Given the description of an element on the screen output the (x, y) to click on. 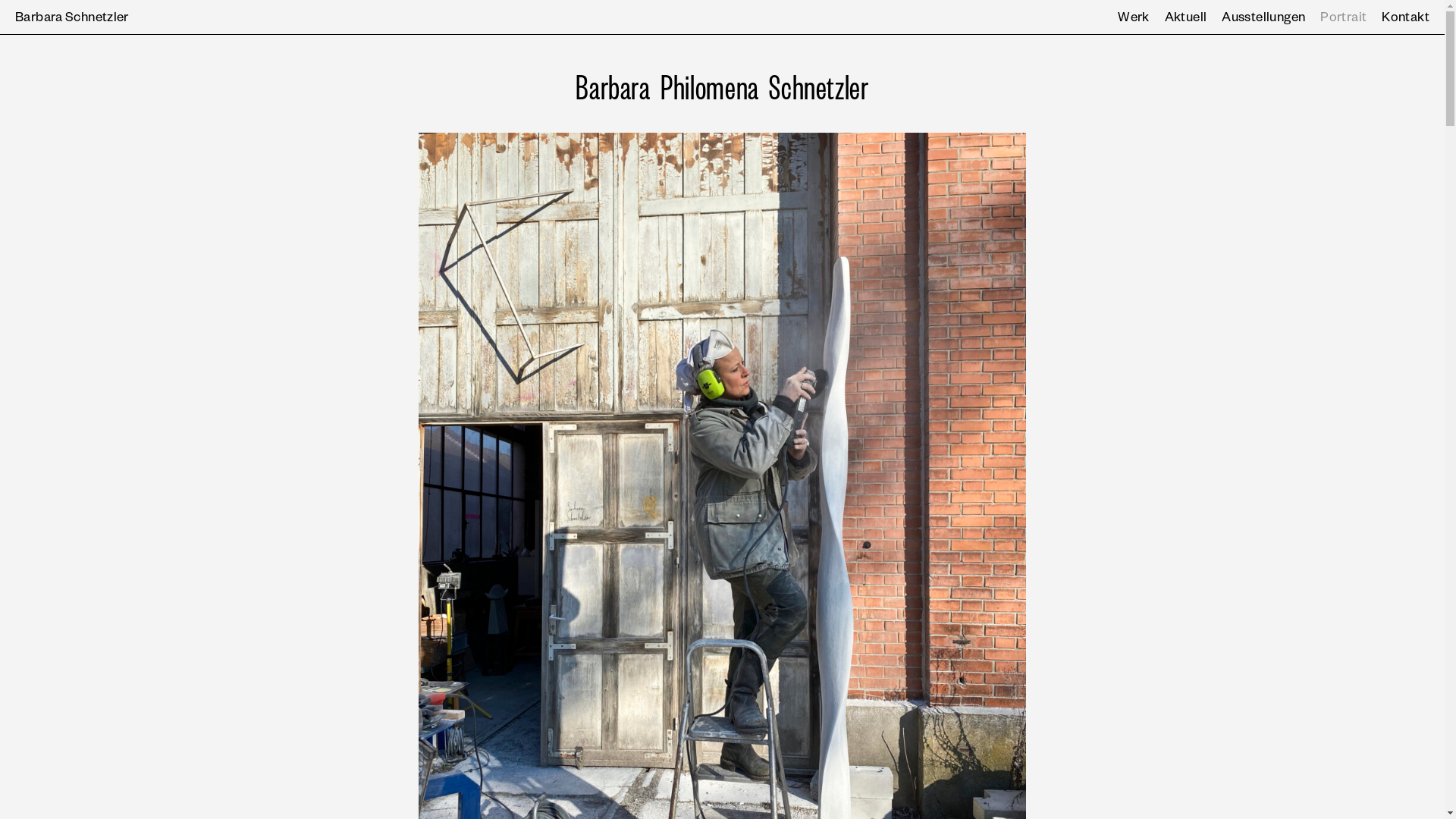
Kontakt Element type: text (1405, 19)
Ausstellungen Element type: text (1263, 19)
Aktuell Element type: text (1185, 19)
Portrait Element type: text (1343, 19)
Barbara Schnetzler Element type: text (71, 19)
Werk Element type: text (1133, 19)
